Given the description of an element on the screen output the (x, y) to click on. 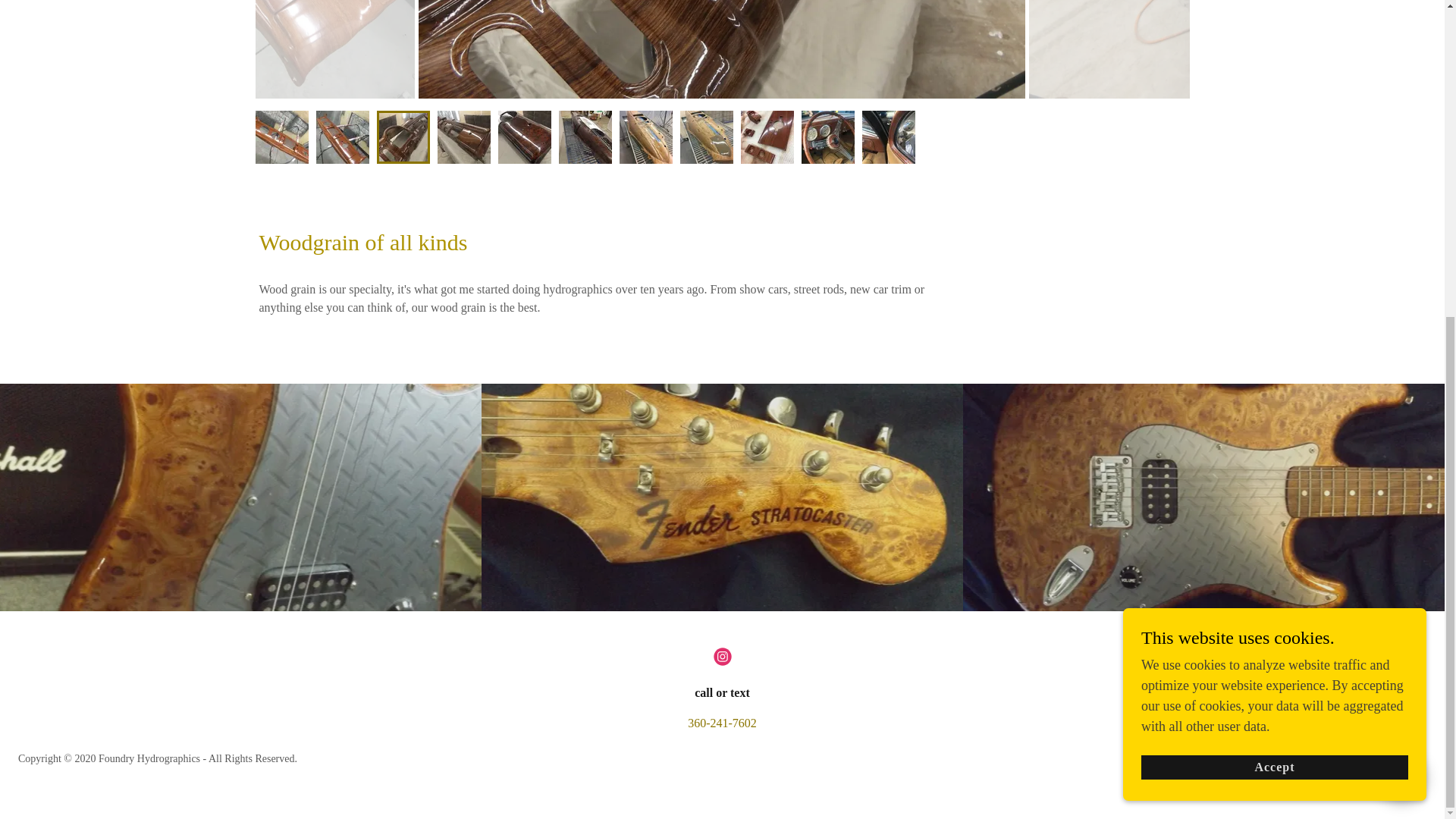
360-241-7602 (722, 722)
Accept (1274, 256)
GoDaddy (1334, 780)
